Given the description of an element on the screen output the (x, y) to click on. 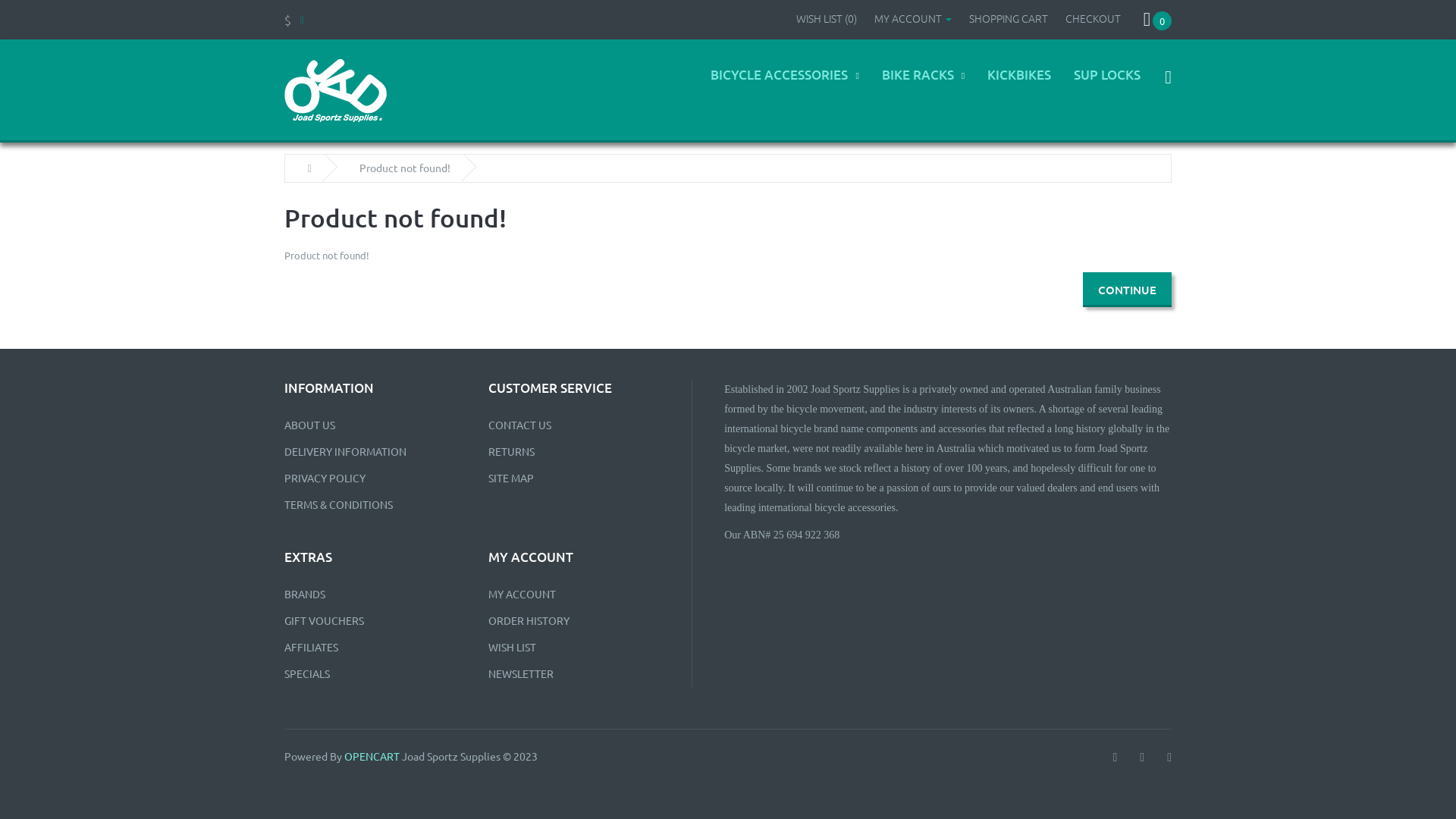
BRANDS Element type: text (304, 593)
ORDER HISTORY Element type: text (528, 620)
Joad Sportz Supplies Element type: hover (335, 90)
CONTACT US Element type: text (519, 424)
BICYCLE ACCESSORIES Element type: text (784, 87)
WISH LIST (0) Element type: text (826, 17)
SHOPPING CART Element type: text (1008, 17)
DELIVERY INFORMATION Element type: text (345, 451)
MY ACCOUNT Element type: text (912, 17)
SUP LOCKS Element type: text (1106, 87)
SPECIALS Element type: text (306, 673)
CHECKOUT Element type: text (1092, 17)
ABOUT US Element type: text (309, 424)
WISH LIST Element type: text (512, 646)
PRIVACY POLICY Element type: text (324, 477)
MY ACCOUNT Element type: text (521, 593)
CONTINUE Element type: text (1126, 289)
AFFILIATES Element type: text (311, 646)
0 Element type: text (1157, 19)
RETURNS Element type: text (511, 451)
BIKE RACKS Element type: text (922, 87)
OPENCART Element type: text (371, 755)
NEWSLETTER Element type: text (520, 673)
KICKBIKES Element type: text (1019, 87)
GIFT VOUCHERS Element type: text (324, 620)
TERMS & CONDITIONS Element type: text (338, 504)
SITE MAP Element type: text (510, 477)
